Given the description of an element on the screen output the (x, y) to click on. 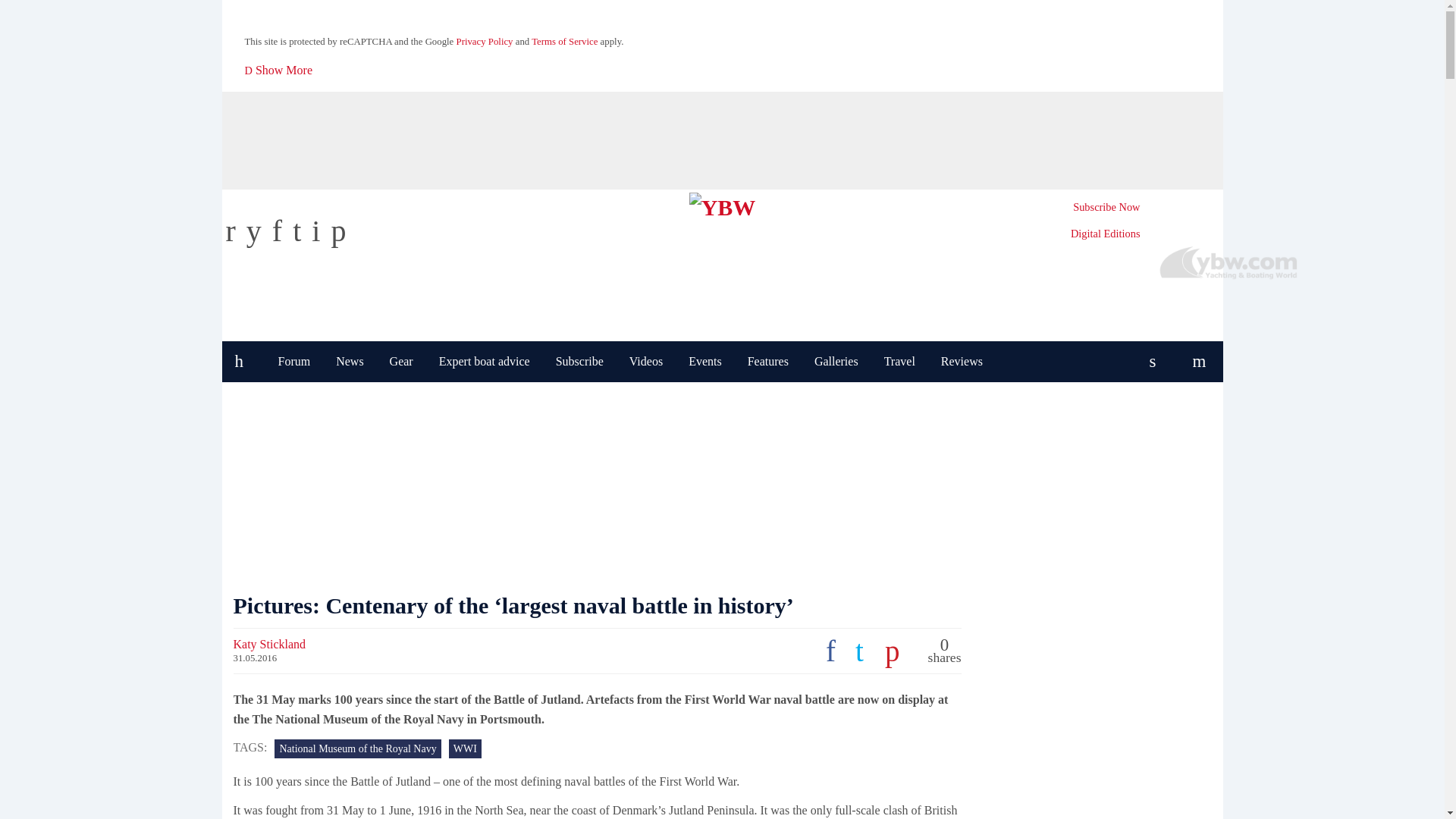
Forum (293, 361)
Katy Stickland's Profile (268, 644)
Digital Editions (1105, 233)
Terms of Service (563, 41)
YBW (721, 204)
Privacy Policy (485, 41)
Digital Editions (1105, 233)
Subscribe Now (1106, 206)
Subscribe Now (1106, 206)
YBW (721, 204)
